Given the description of an element on the screen output the (x, y) to click on. 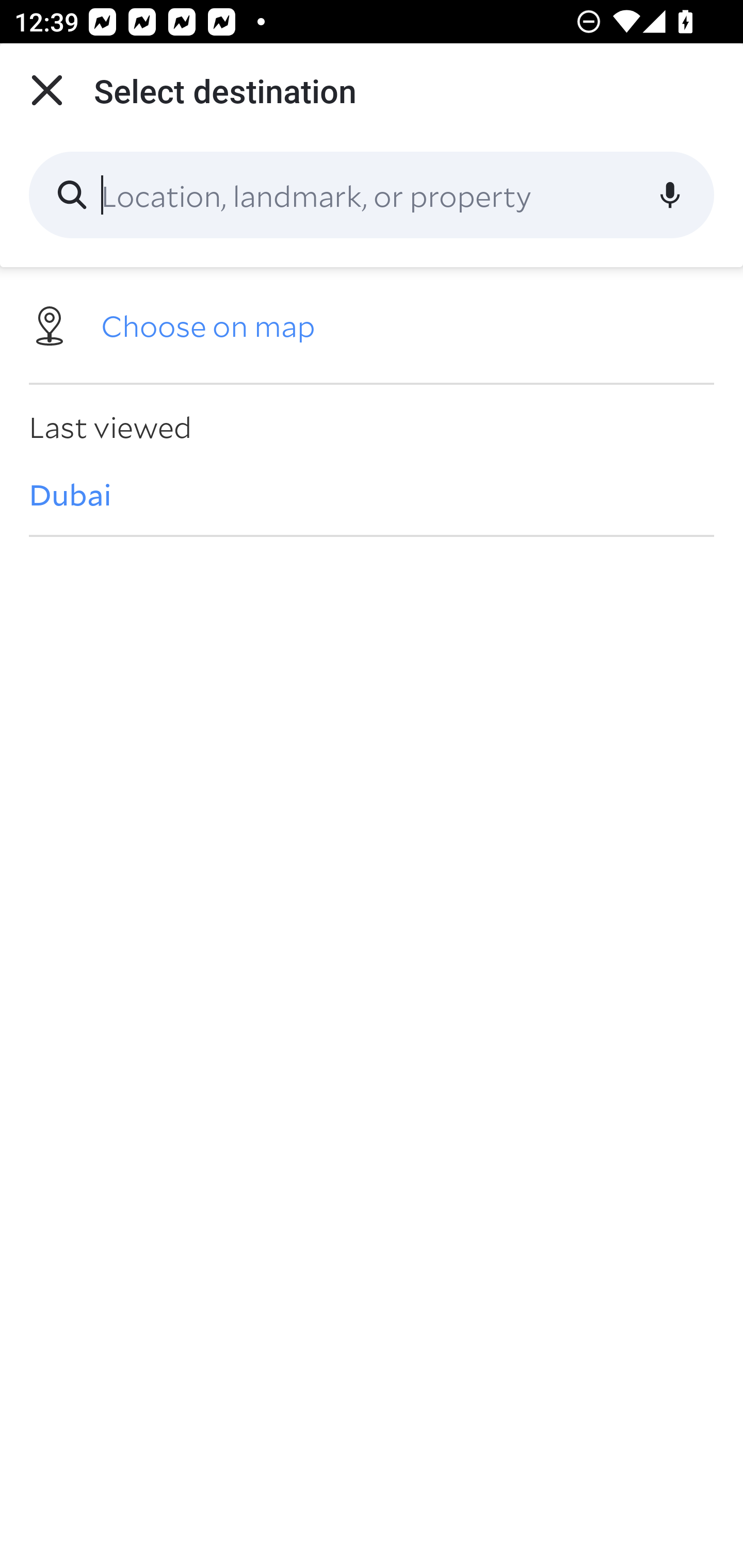
Location, landmark, or property (371, 195)
Choose on map (371, 324)
Dubai (371, 493)
